Given the description of an element on the screen output the (x, y) to click on. 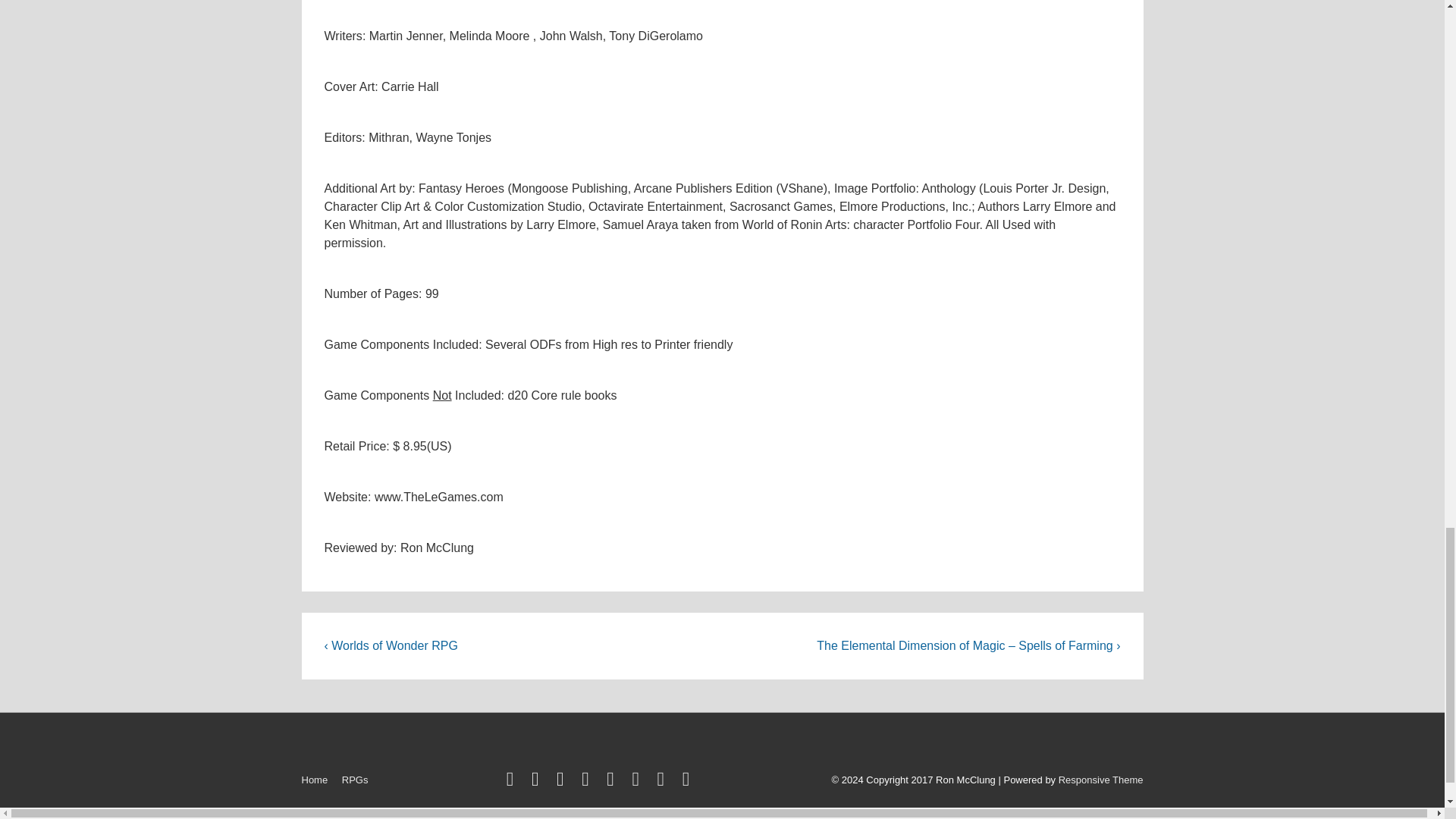
email (688, 781)
instagram (638, 781)
pinterest (664, 781)
facebook (537, 781)
linkedin (563, 781)
rss (613, 781)
twitter (512, 781)
youtube (587, 781)
